Given the description of an element on the screen output the (x, y) to click on. 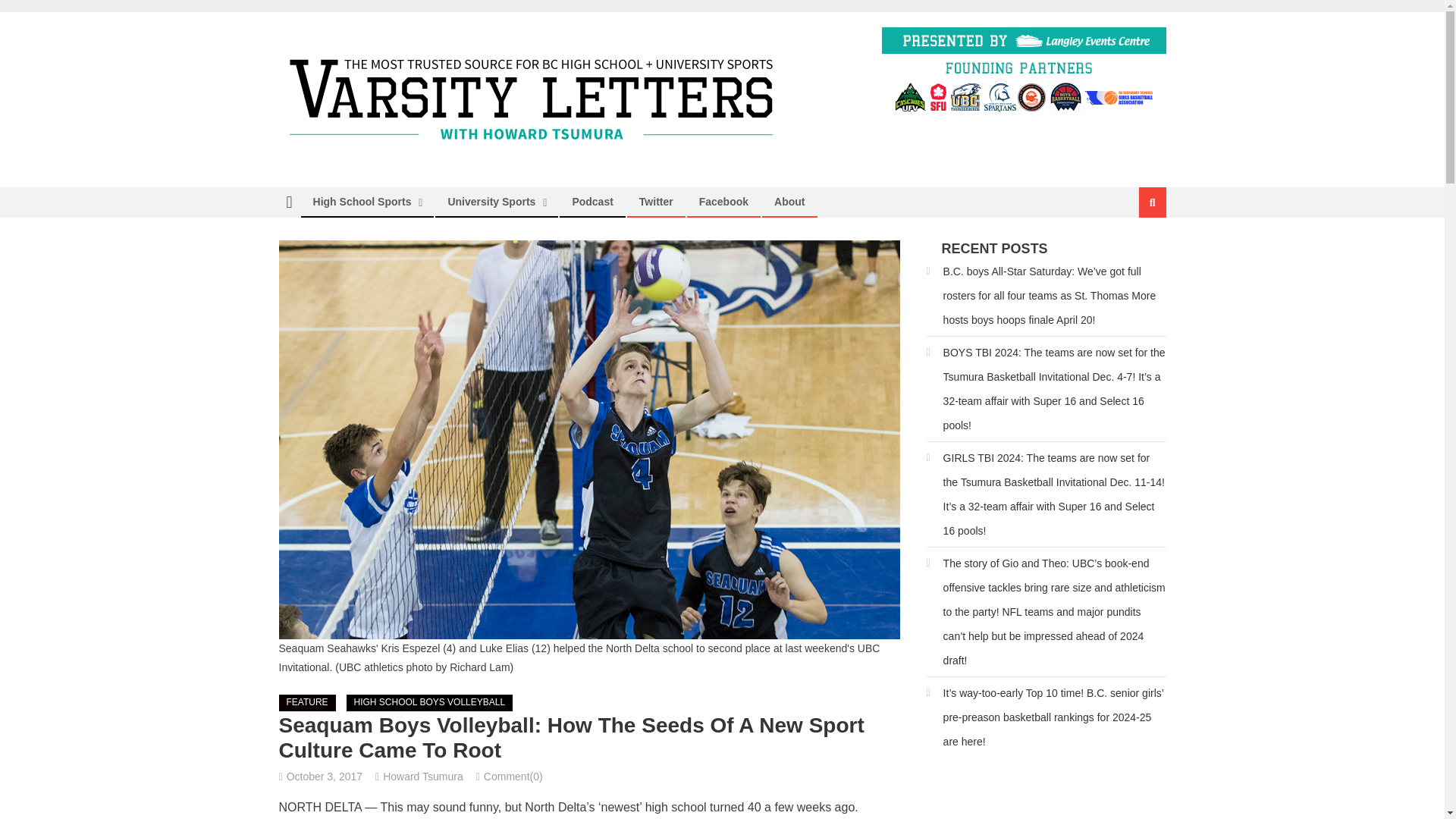
Twitter (655, 201)
Facebook (723, 201)
University Sports (491, 201)
About (788, 201)
High School Sports (362, 201)
Podcast (592, 201)
